Given the description of an element on the screen output the (x, y) to click on. 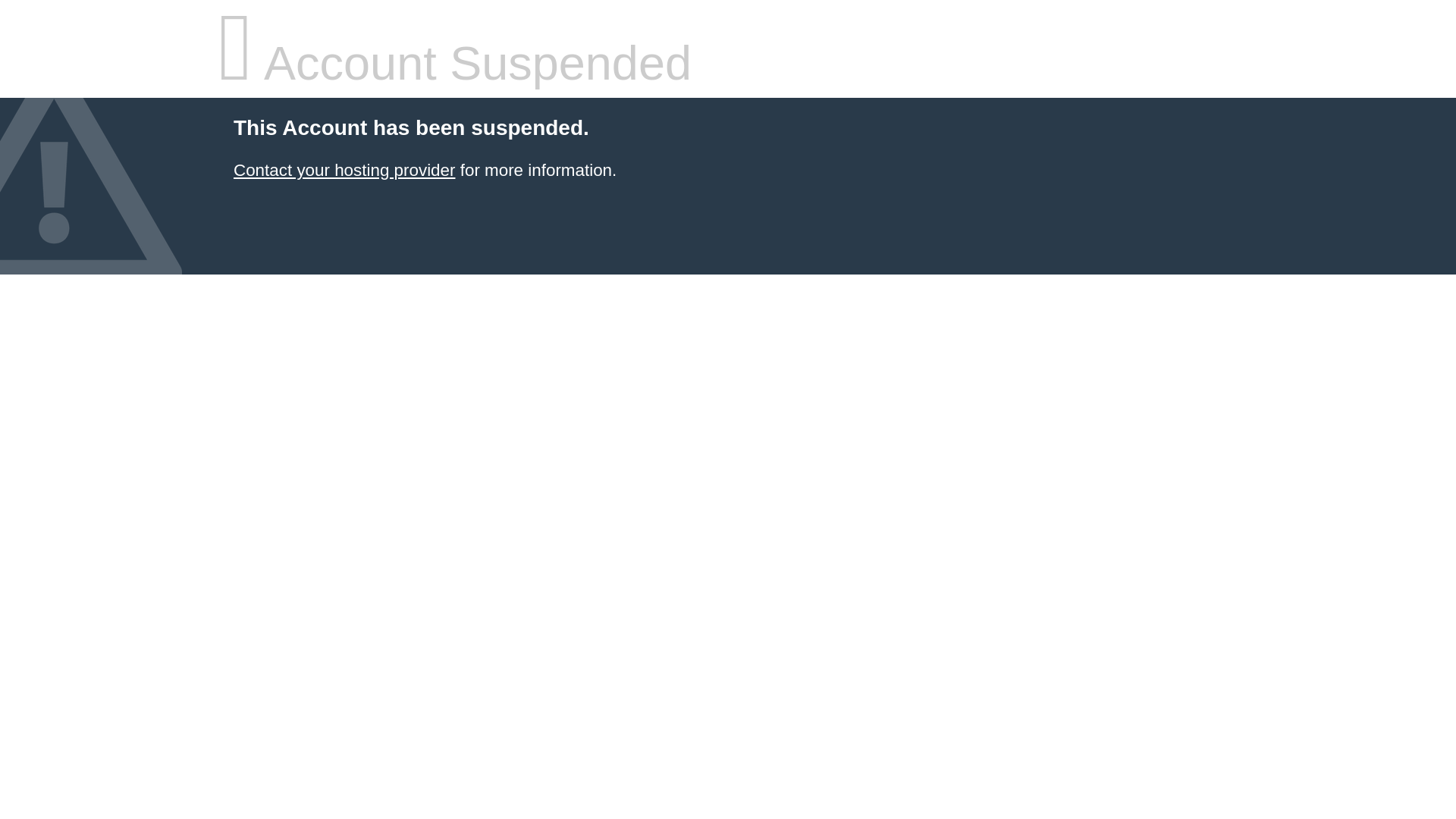
Contact your hosting provider (343, 169)
